Given the description of an element on the screen output the (x, y) to click on. 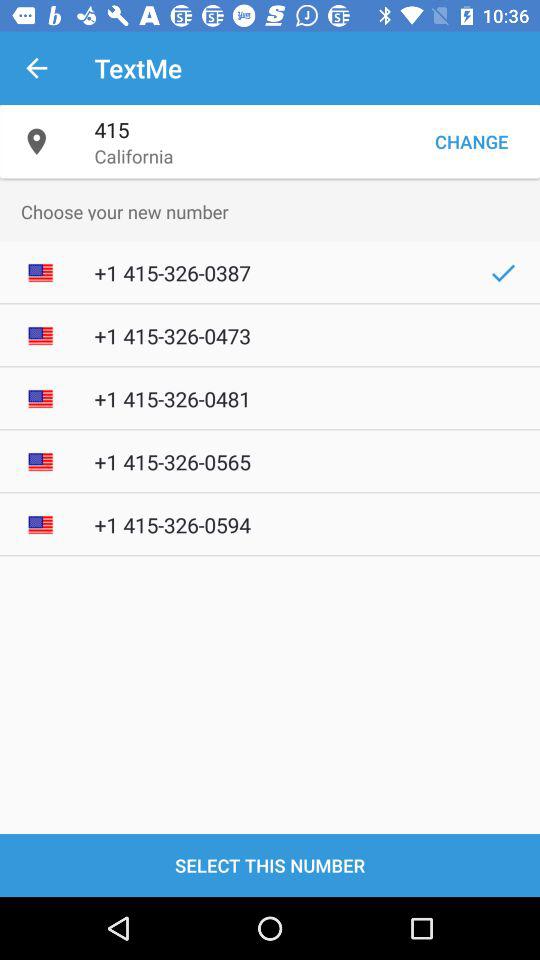
click on change (471, 141)
click on mini image left to 1 4153260565 (40, 462)
click on mini image left to 1 4153260387 (40, 273)
click on the mini image left to 1 4153260594 (40, 524)
